Given the description of an element on the screen output the (x, y) to click on. 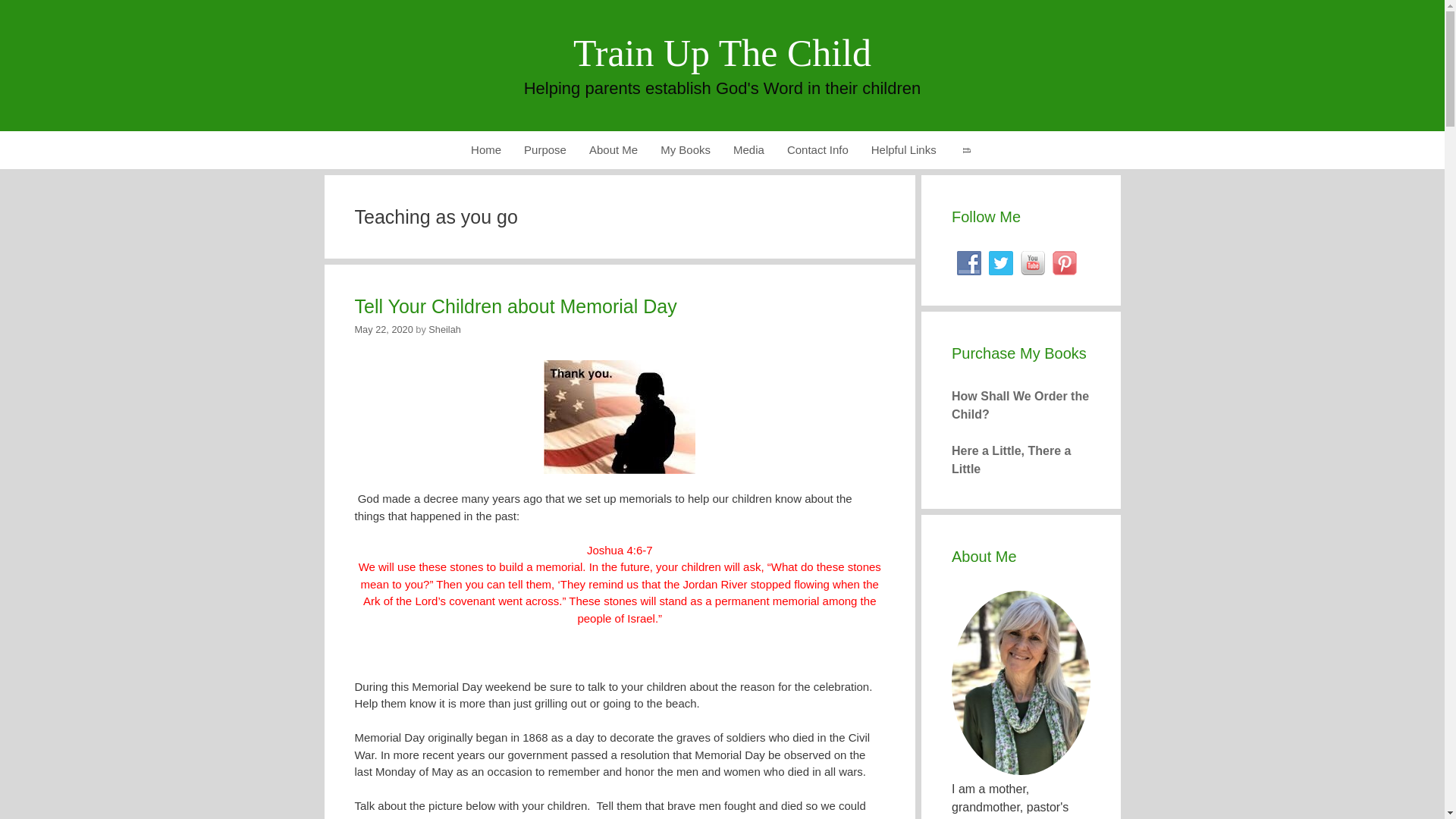
Media (749, 149)
3:00 am (384, 328)
Home (486, 149)
Sheilah (444, 328)
Train Up The Child (721, 52)
Tell Your Children about Memorial Day (516, 305)
Train Up The Child (721, 52)
Helpful Links (903, 149)
Search (966, 149)
Contact Info (818, 149)
